Given the description of an element on the screen output the (x, y) to click on. 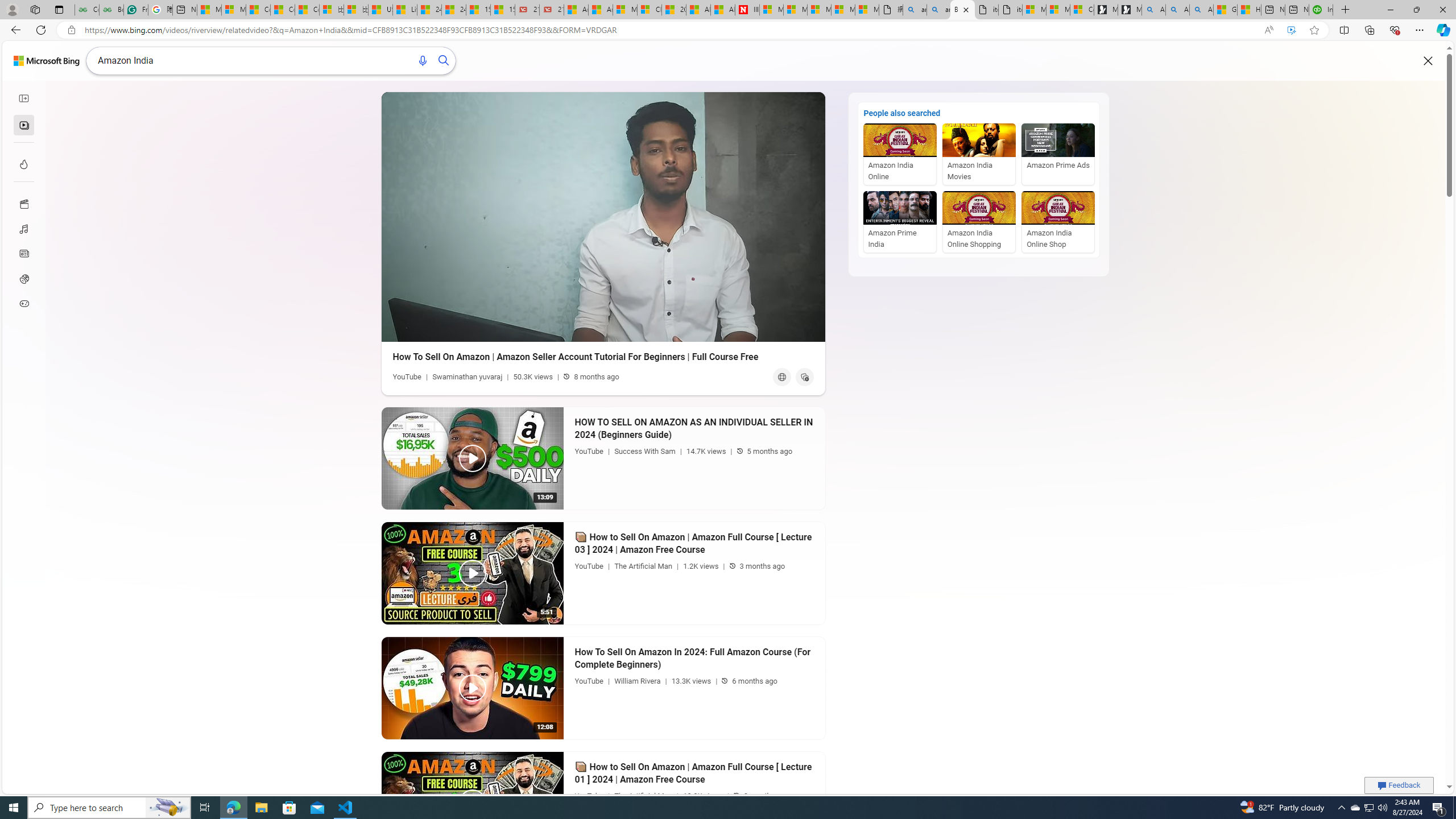
Lifestyle - MSN (404, 9)
Amazon Prime India (899, 221)
Consumer Health Data Privacy Policy (1082, 9)
20 Ways to Boost Your Protein Intake at Every Meal (673, 9)
Amazon India Online Shop (1058, 221)
21 Movies That Outdid the Books They Were Based On (551, 9)
Alabama high school quarterback dies - Search Videos (1201, 9)
Back to Bing search (46, 60)
